Given the description of an element on the screen output the (x, y) to click on. 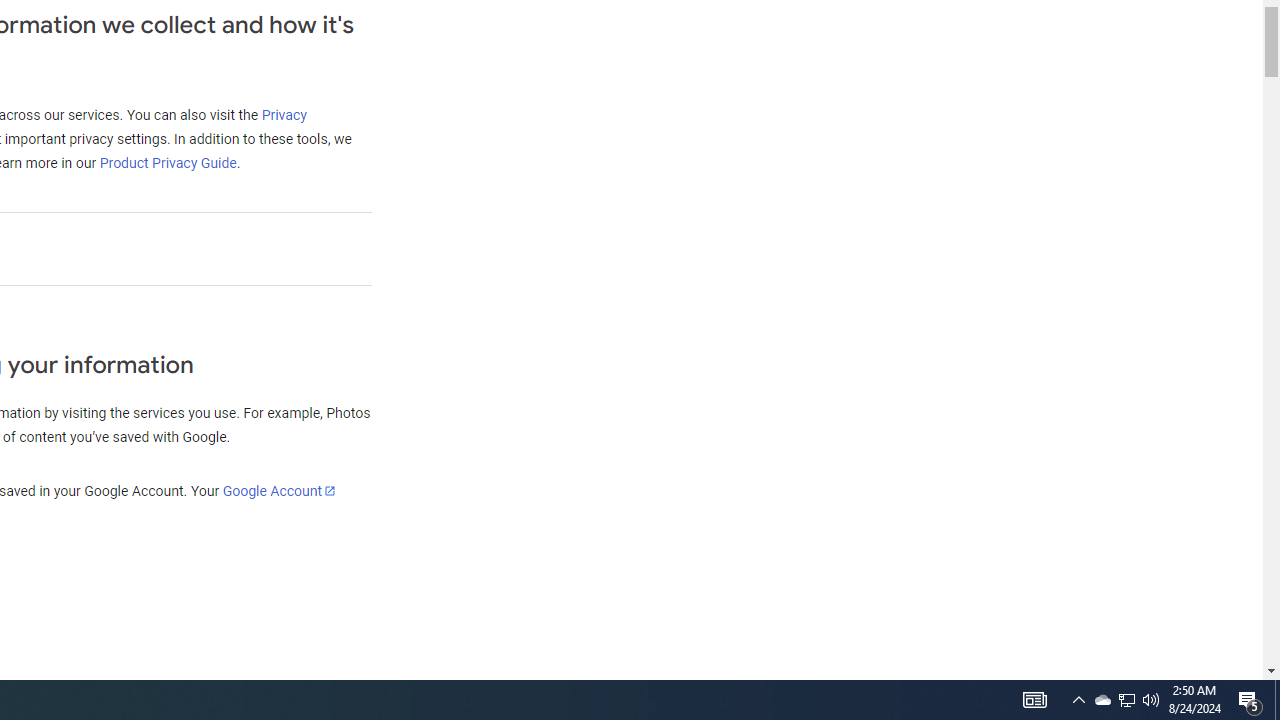
Product Privacy Guide (167, 163)
Google Account (278, 490)
